Given the description of an element on the screen output the (x, y) to click on. 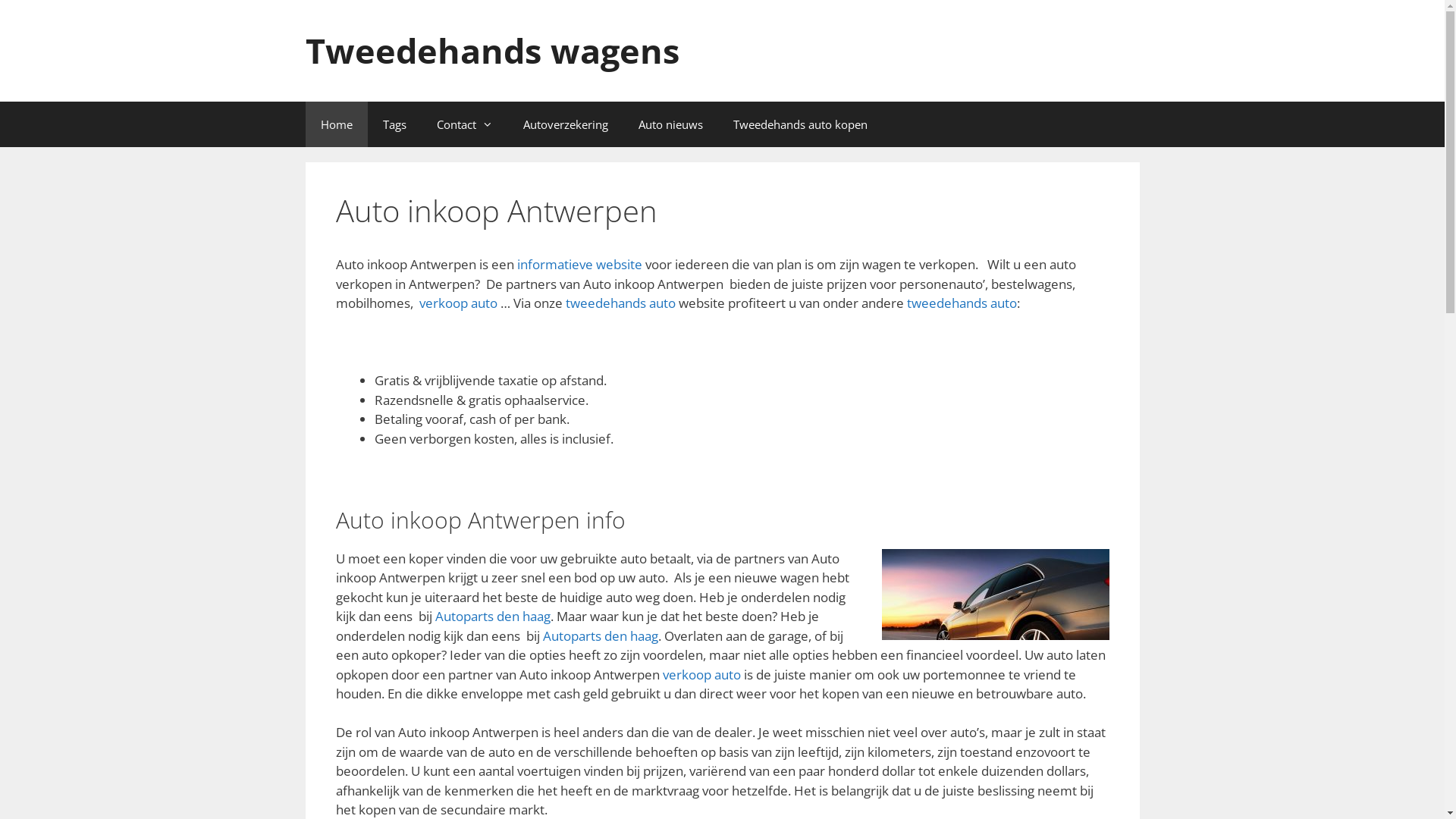
informatieve website Element type: text (579, 264)
Tweedehands auto kopen Element type: text (799, 124)
tweedehands auto Element type: text (620, 302)
Tags Element type: text (393, 124)
Autoparts den haag Element type: text (600, 634)
Auto nieuws Element type: text (670, 124)
Autoverzekering Element type: text (565, 124)
Tweedehands wagens Element type: text (491, 50)
verkoop auto Element type: text (701, 674)
Contact Element type: text (464, 124)
Home Element type: text (335, 124)
verkoop auto Element type: text (457, 302)
Autoparts den haag Element type: text (492, 615)
tweedehands auto Element type: text (961, 302)
